Given the description of an element on the screen output the (x, y) to click on. 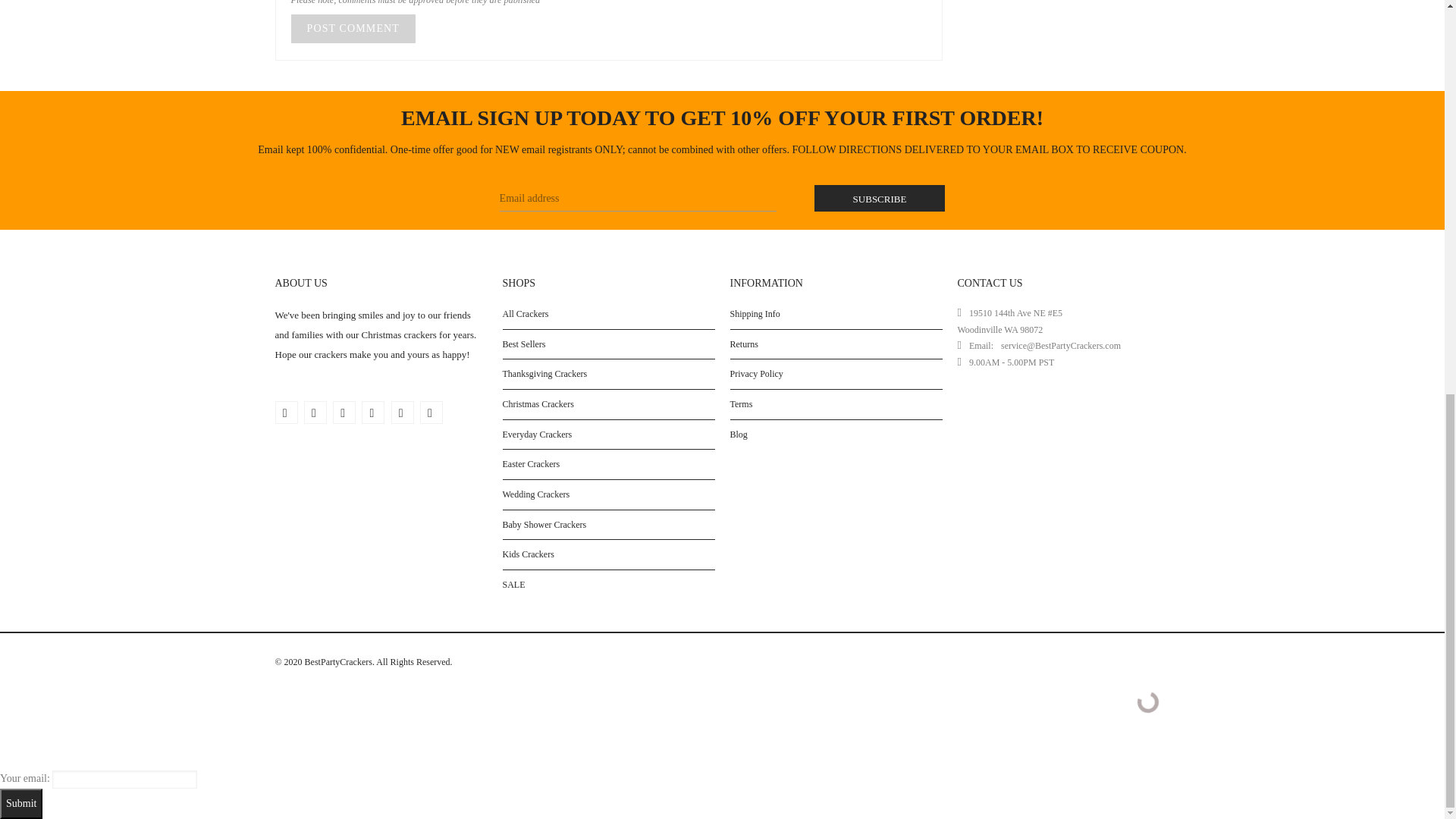
Subscribe (878, 198)
Post comment (352, 28)
